Given the description of an element on the screen output the (x, y) to click on. 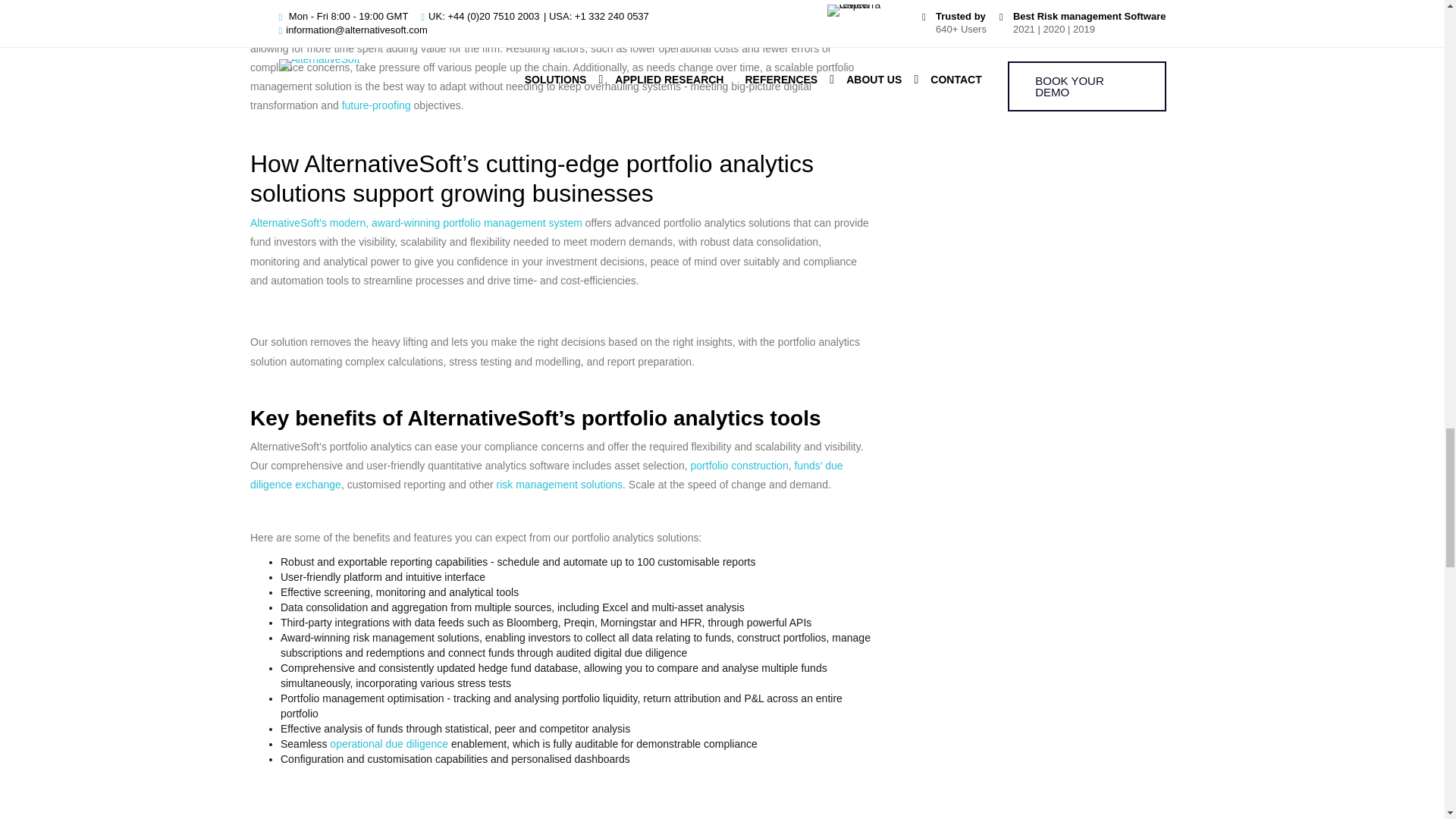
funds' due diligence exchange (546, 474)
operational due diligence (389, 743)
future-proofing (376, 105)
portfolio construction (739, 465)
risk management solutions (559, 484)
